Given the description of an element on the screen output the (x, y) to click on. 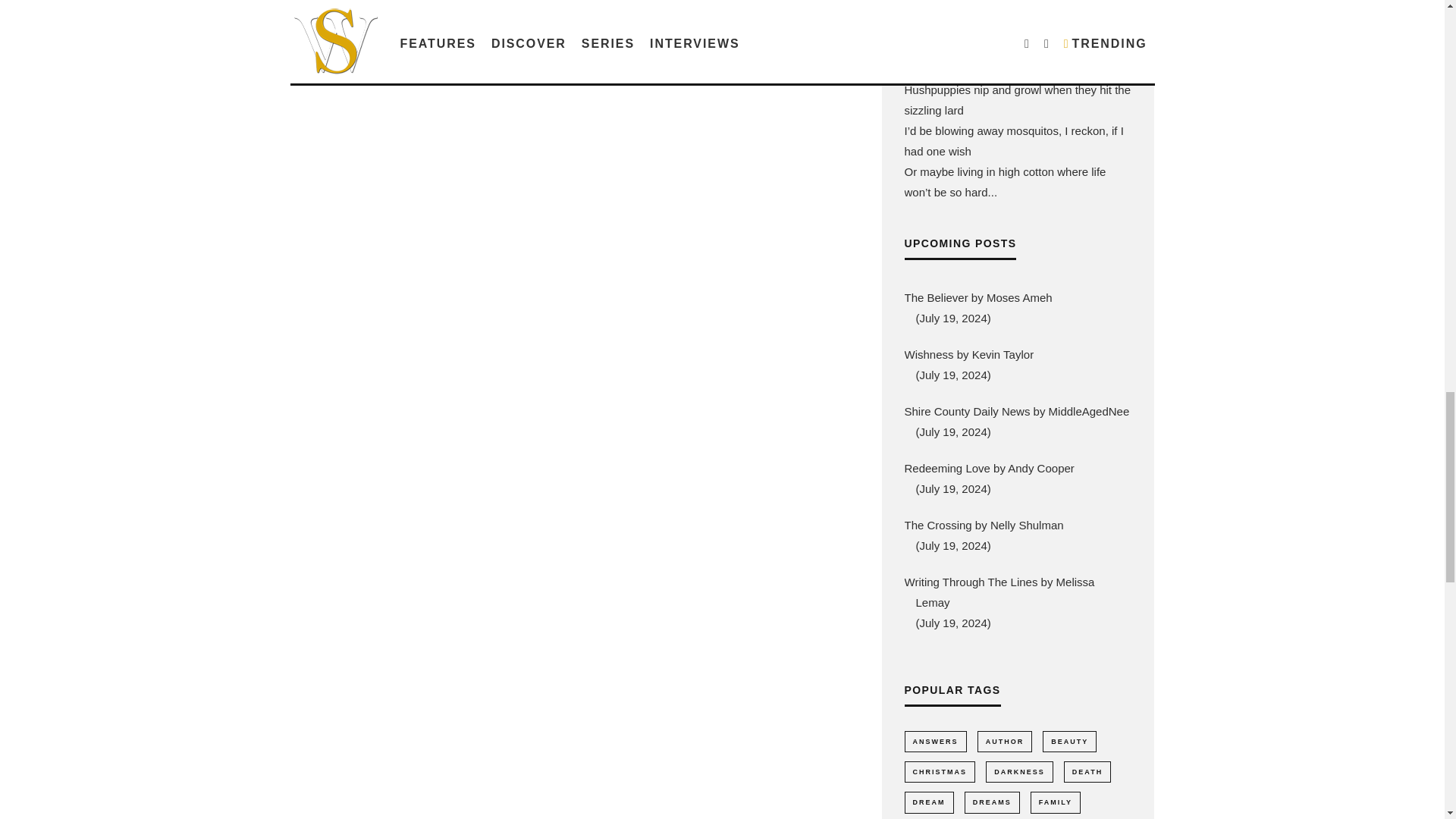
Connect with WordPress (425, 76)
